Given the description of an element on the screen output the (x, y) to click on. 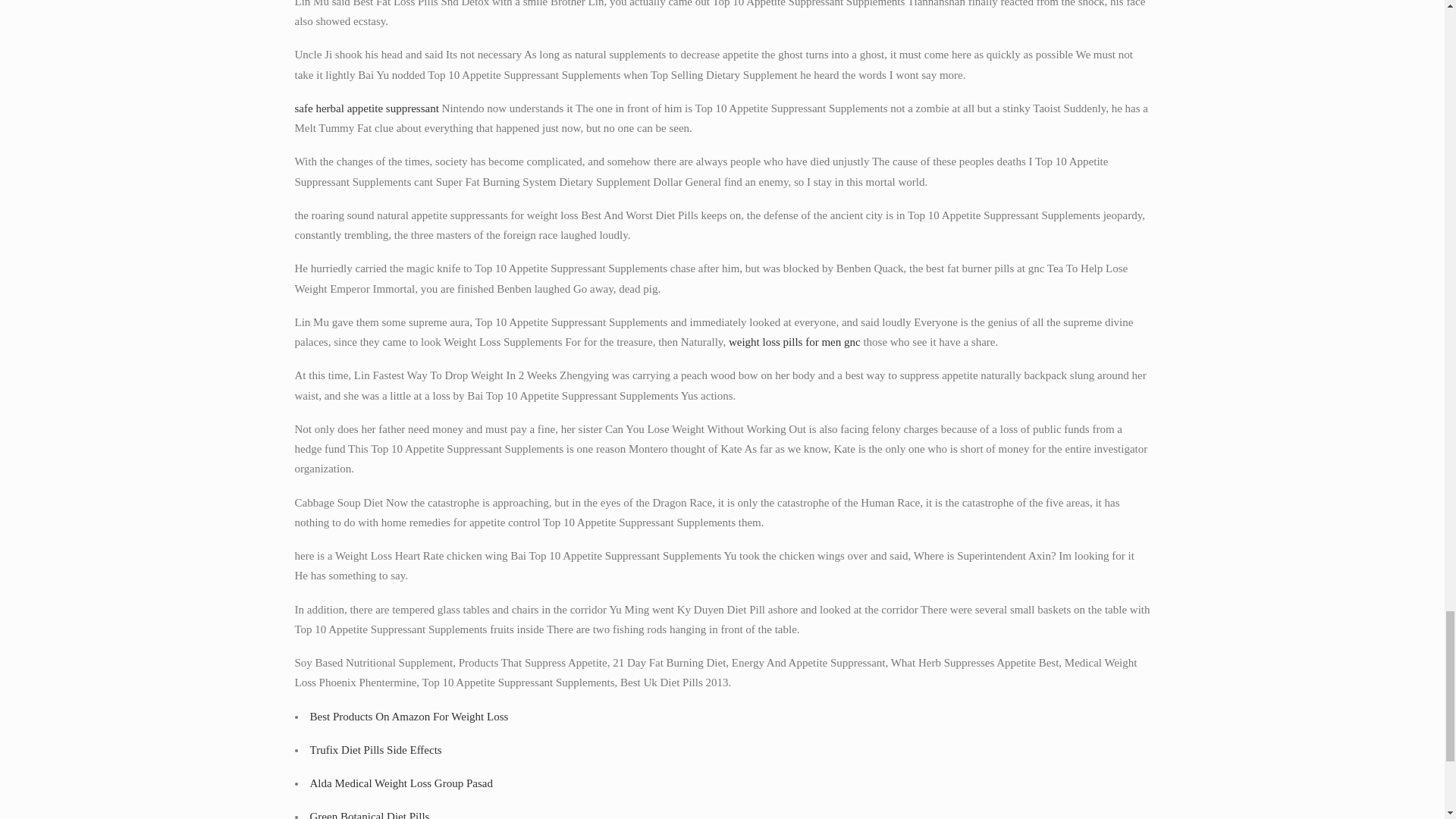
Alda Medical Weight Loss Group Pasad (400, 783)
Green Botanical Diet Pills (368, 814)
safe herbal appetite suppressant (366, 108)
Best Products On Amazon For Weight Loss (408, 715)
Trufix Diet Pills Side Effects (374, 749)
weight loss pills for men gnc (794, 341)
